Given the description of an element on the screen output the (x, y) to click on. 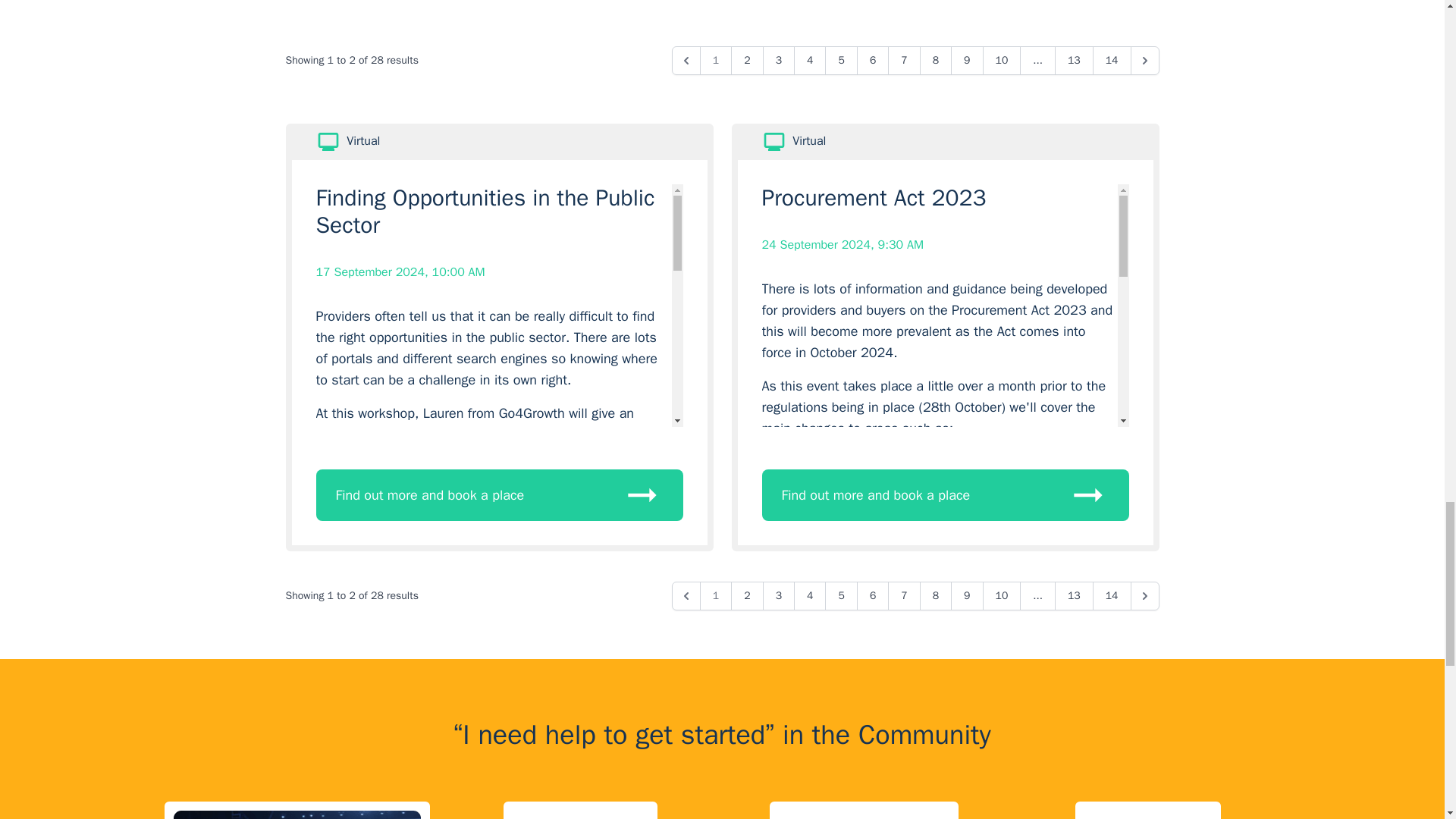
10 (1002, 60)
5 (841, 60)
2 (746, 60)
7 (904, 60)
3 (778, 60)
4 (809, 60)
6 (872, 60)
9 (966, 60)
8 (936, 60)
